Given the description of an element on the screen output the (x, y) to click on. 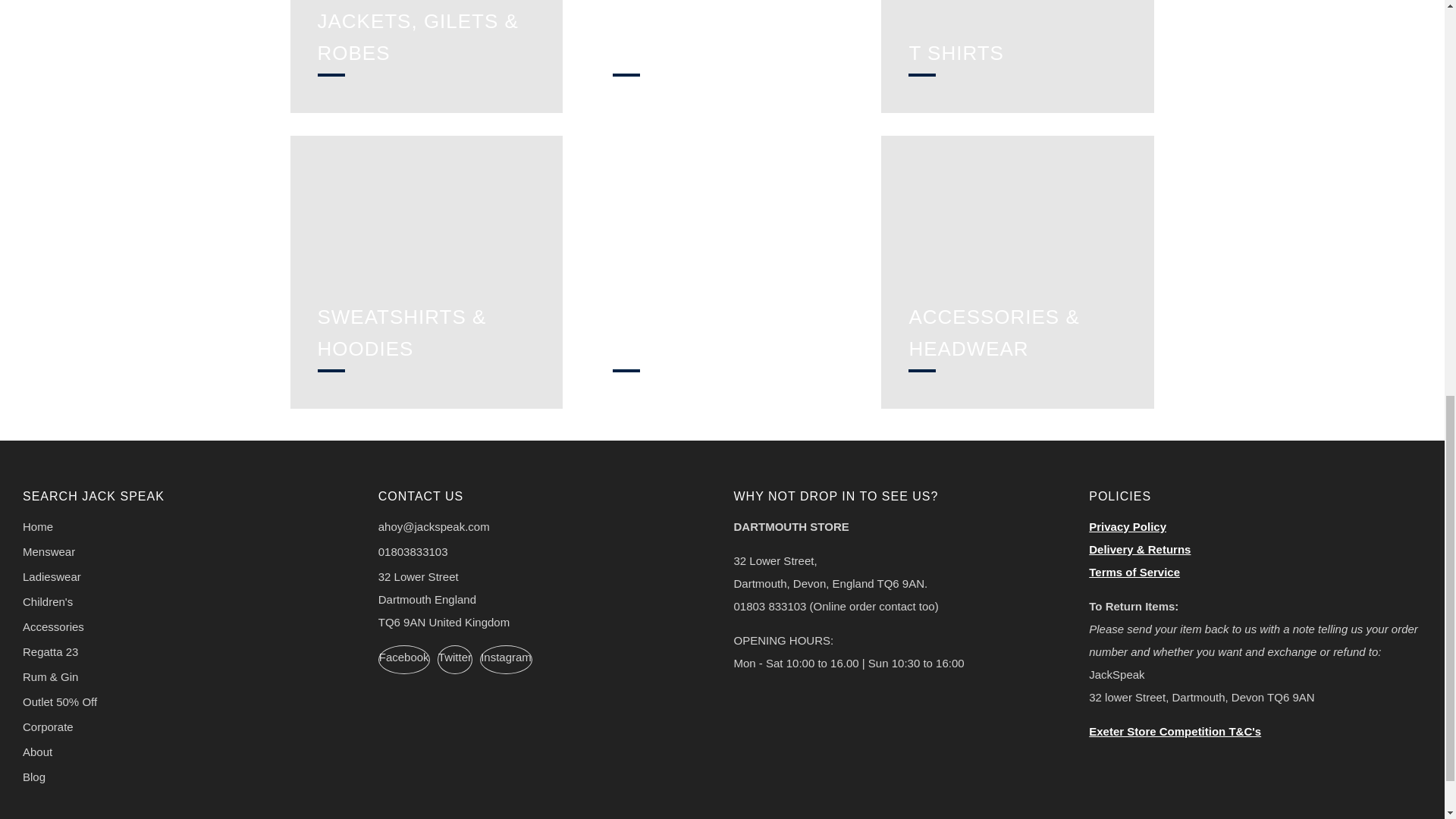
Privacy Policy (1127, 526)
Terms of Service (1134, 571)
Exeter Store Competition (1174, 730)
